Given the description of an element on the screen output the (x, y) to click on. 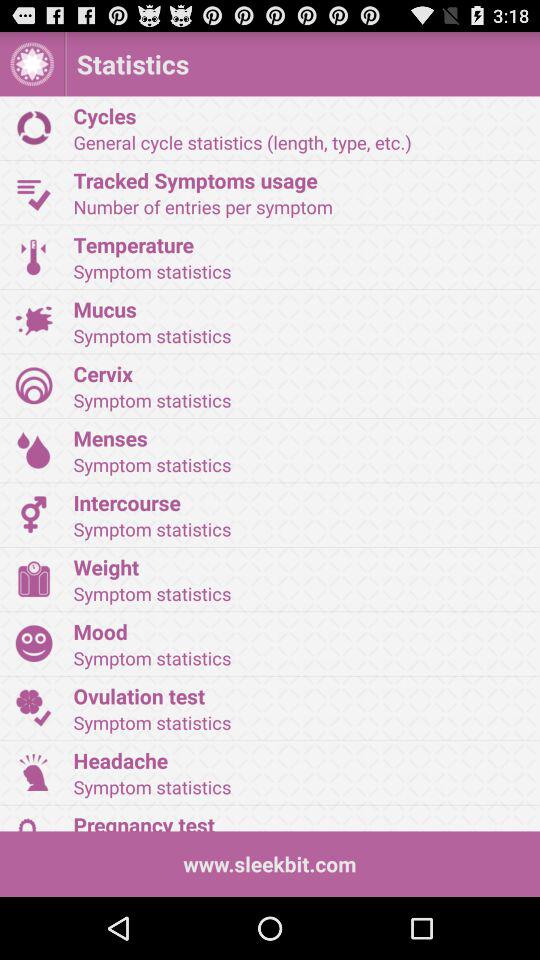
scroll until general cycle statistics (299, 141)
